Given the description of an element on the screen output the (x, y) to click on. 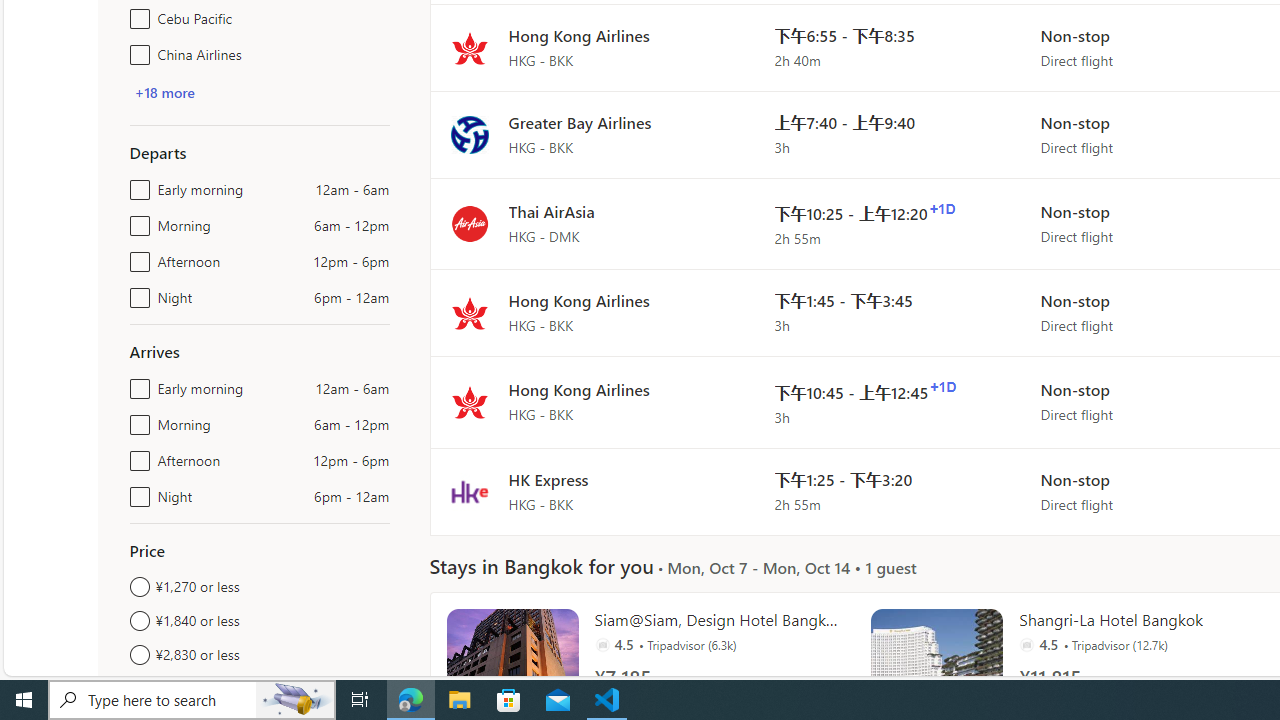
Any price (259, 688)
Morning6am - 12pm (136, 420)
Cebu Pacific (136, 14)
Afternoon12pm - 6pm (136, 456)
Early morning12am - 6am (136, 384)
Flight logo (469, 491)
China Airlines (136, 50)
Tripadvisor (1026, 644)
+18 more (164, 92)
Night6pm - 12am (136, 492)
